Given the description of an element on the screen output the (x, y) to click on. 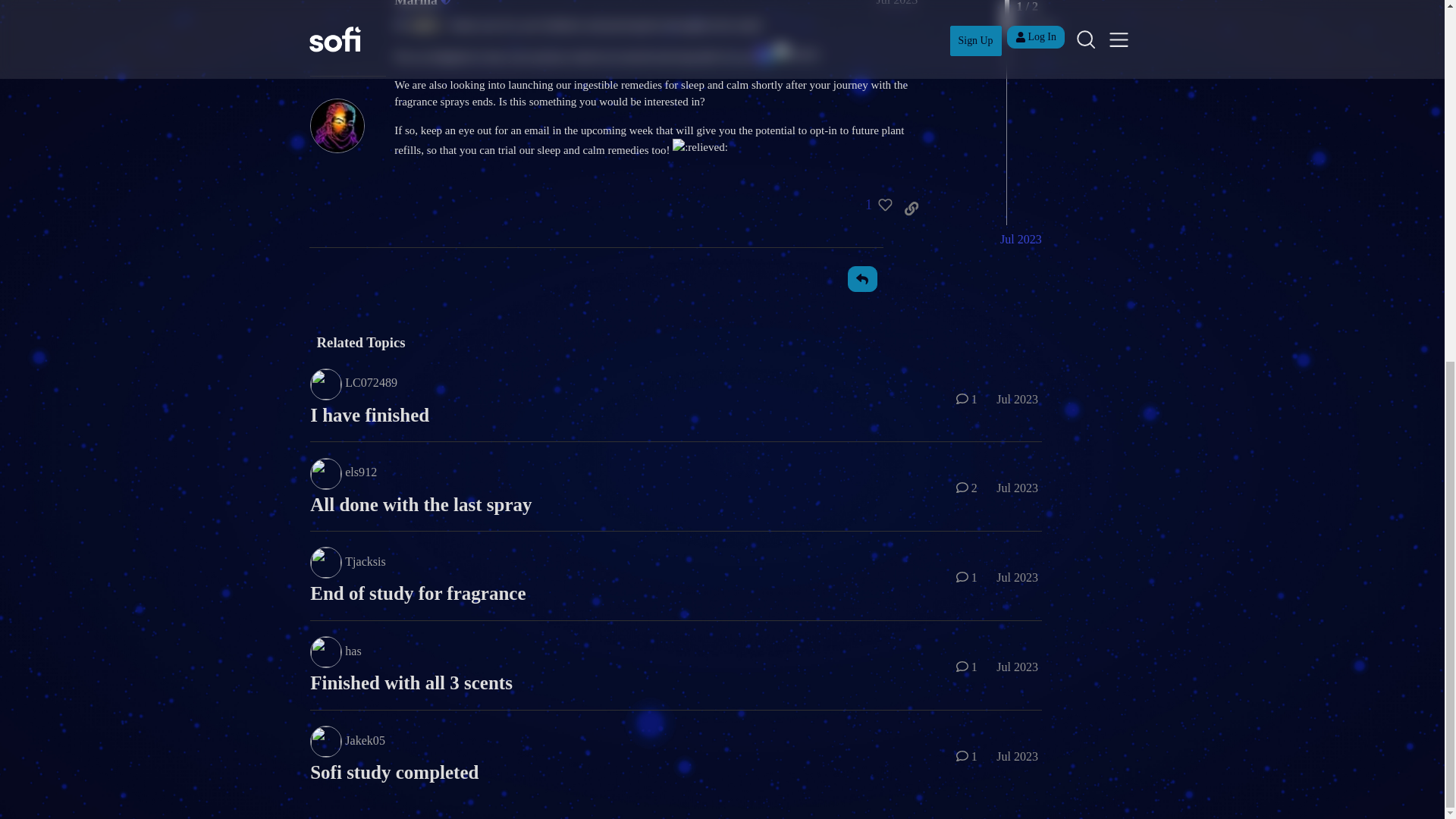
sofi labs (355, 82)
sofi.health blog (371, 51)
sofi.health website (379, 35)
